Given the description of an element on the screen output the (x, y) to click on. 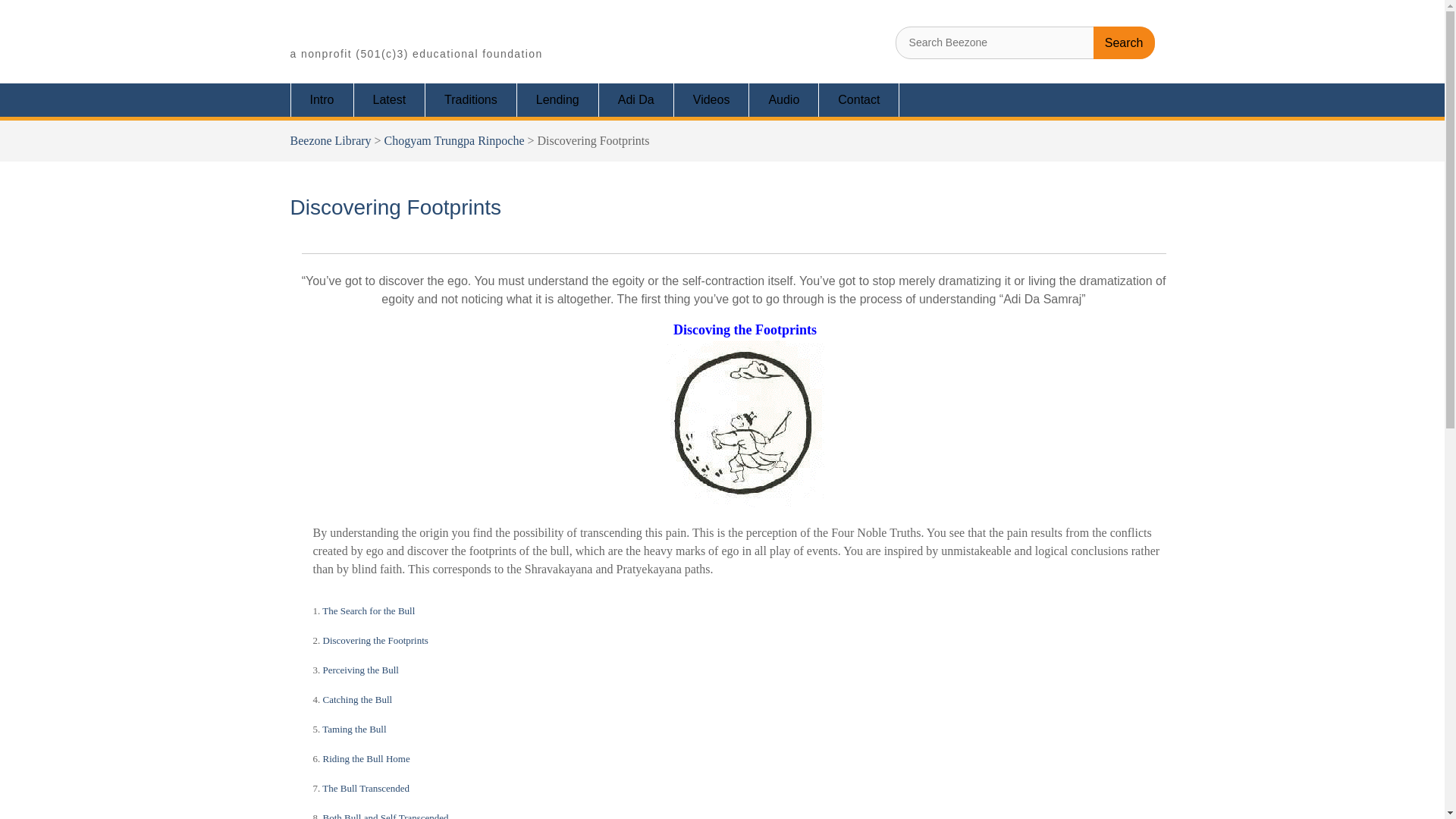
Videos (385, 814)
Traditions (358, 698)
Contact (360, 668)
Chogyam Trungpa Rinpoche (711, 100)
